Given the description of an element on the screen output the (x, y) to click on. 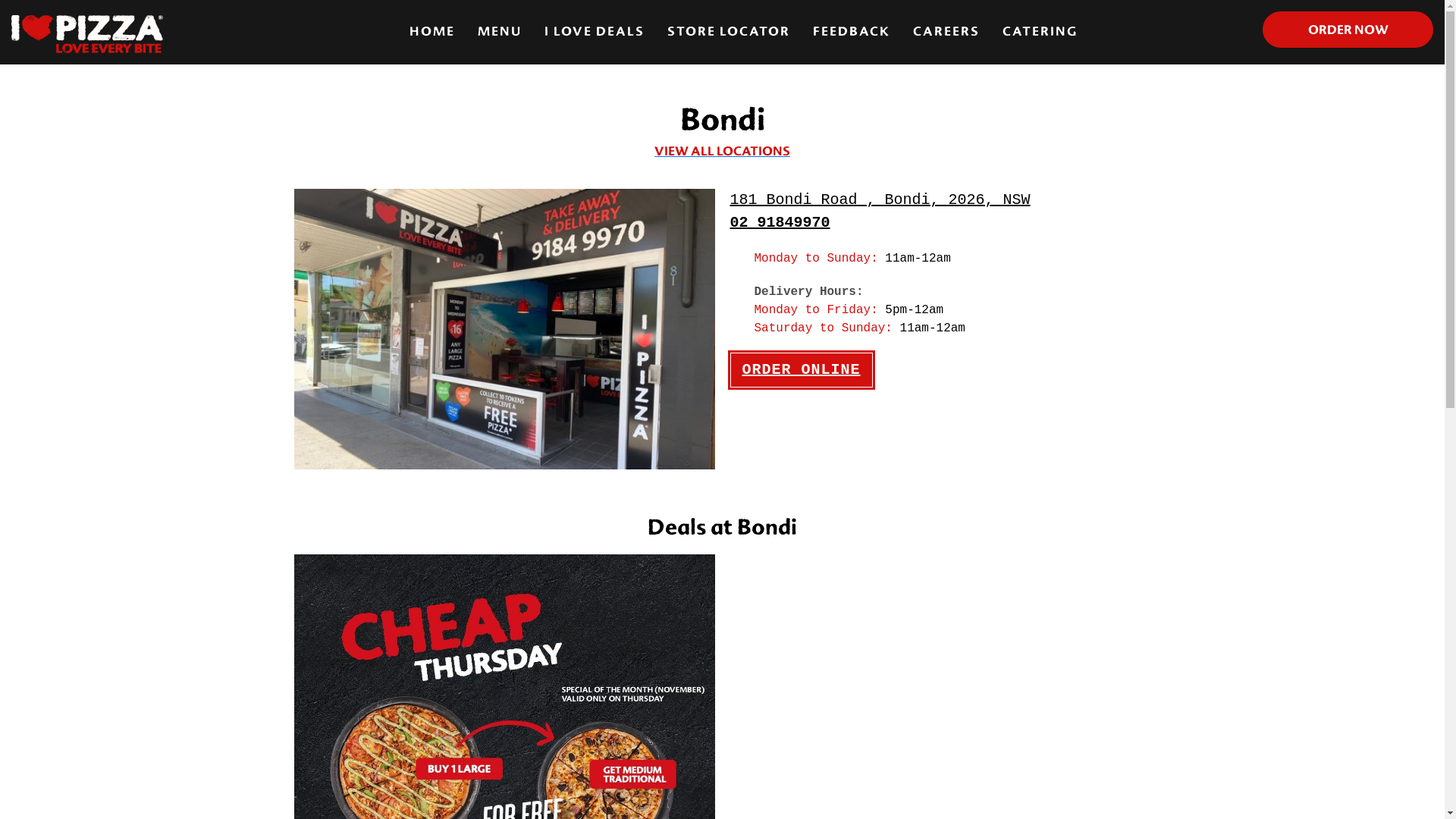
CATERING Element type: text (1040, 31)
02 91849970 Element type: text (779, 222)
FEEDBACK Element type: text (851, 31)
ORDER NOW Element type: text (1347, 29)
MENU Element type: text (499, 31)
VIEW ALL LOCATIONS Element type: text (722, 151)
I LOVE DEALS Element type: text (594, 31)
STORE LOCATOR Element type: text (728, 31)
181 Bondi Road , Bondi, 2026, NSW Element type: text (879, 199)
ORDER ONLINE Element type: text (800, 369)
CAREERS Element type: text (946, 31)
I Love Pizza Element type: hover (87, 32)
HOME Element type: text (432, 31)
